Given the description of an element on the screen output the (x, y) to click on. 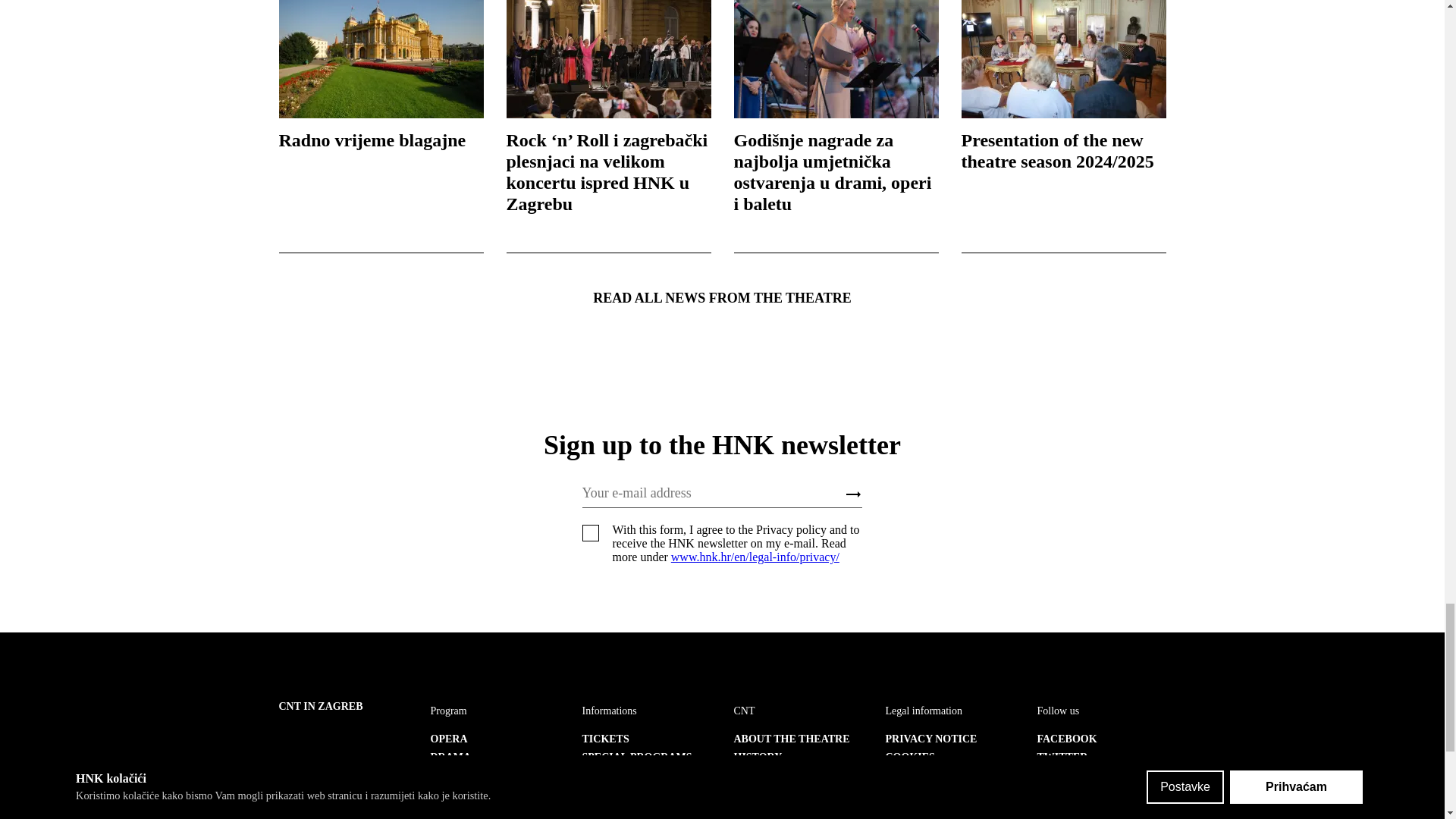
HISTORY (758, 756)
CNT (744, 710)
REPERTOIRE (465, 811)
DRAMA (450, 756)
CNT IN ZAGREB (320, 706)
TECHNICAL DETAILS (789, 811)
TICKETS (605, 738)
SPECIAL PROGRAMS (637, 756)
Radno vrijeme blagajne (381, 75)
BALLET (452, 775)
READ ALL NEWS FROM THE THEATRE (721, 298)
OPERA (448, 738)
ABOUT THE BUILDING (793, 775)
LOCATION AND CONTACT (622, 781)
